Given the description of an element on the screen output the (x, y) to click on. 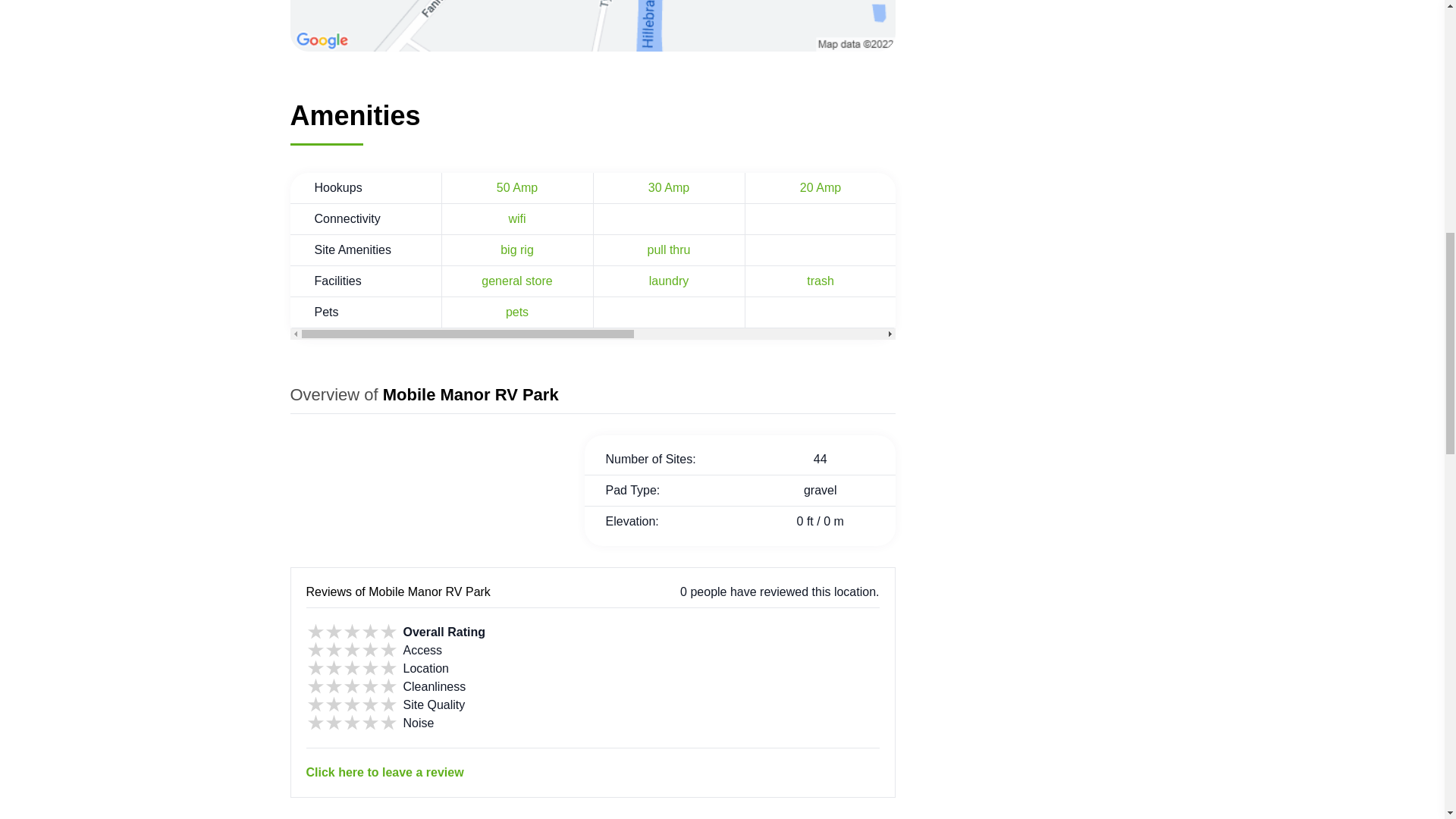
trash (820, 280)
sewer (1124, 186)
20 Amp (820, 186)
pull thru (668, 248)
wifi (516, 218)
big rig (517, 248)
30 Amp (667, 186)
laundry (668, 280)
general store (516, 280)
Full Hookups (1275, 186)
Click here to leave a review (592, 764)
50 Amp (516, 186)
water (971, 186)
pets (516, 310)
